Given the description of an element on the screen output the (x, y) to click on. 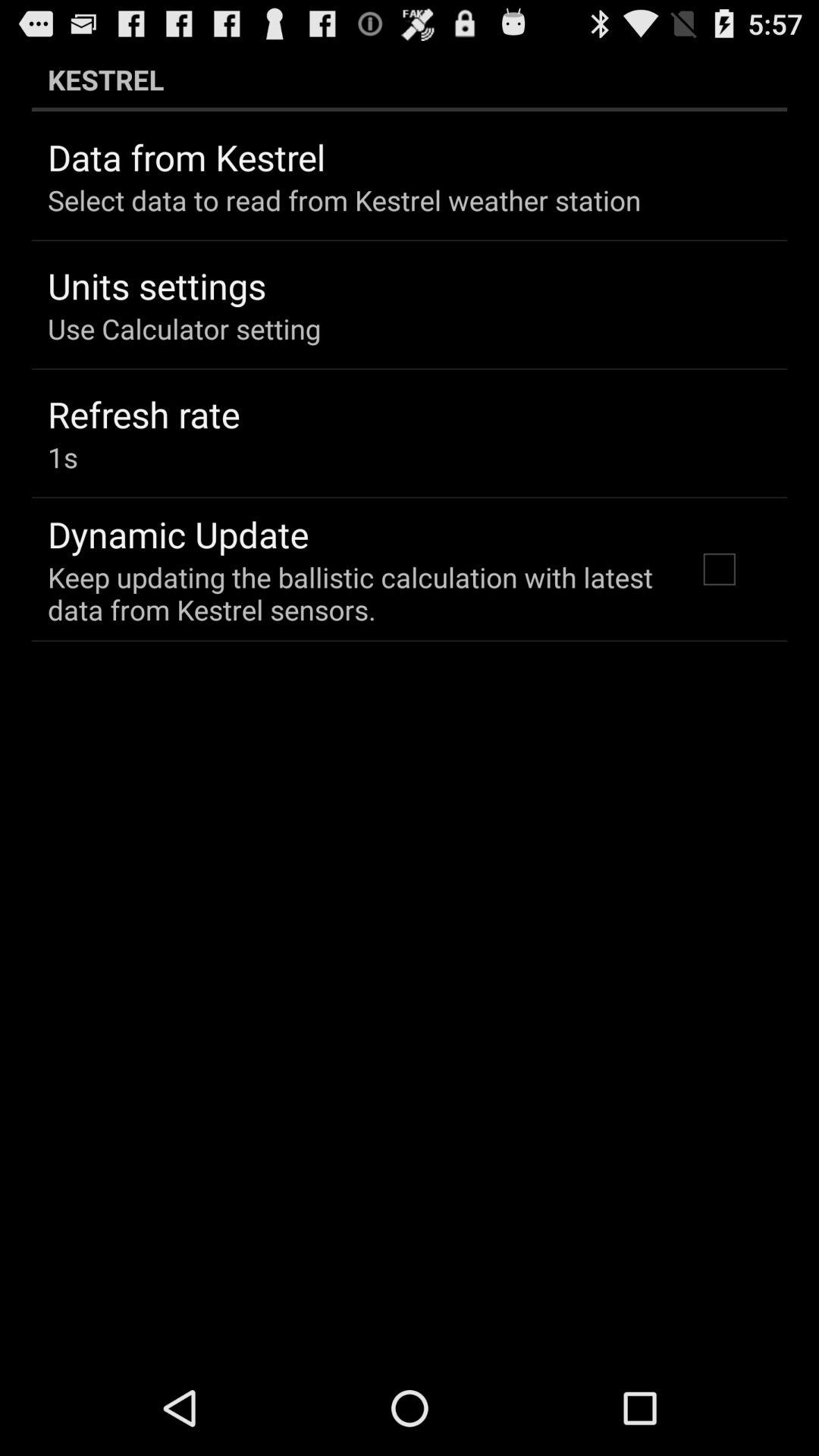
tap the icon above units settings (343, 199)
